Given the description of an element on the screen output the (x, y) to click on. 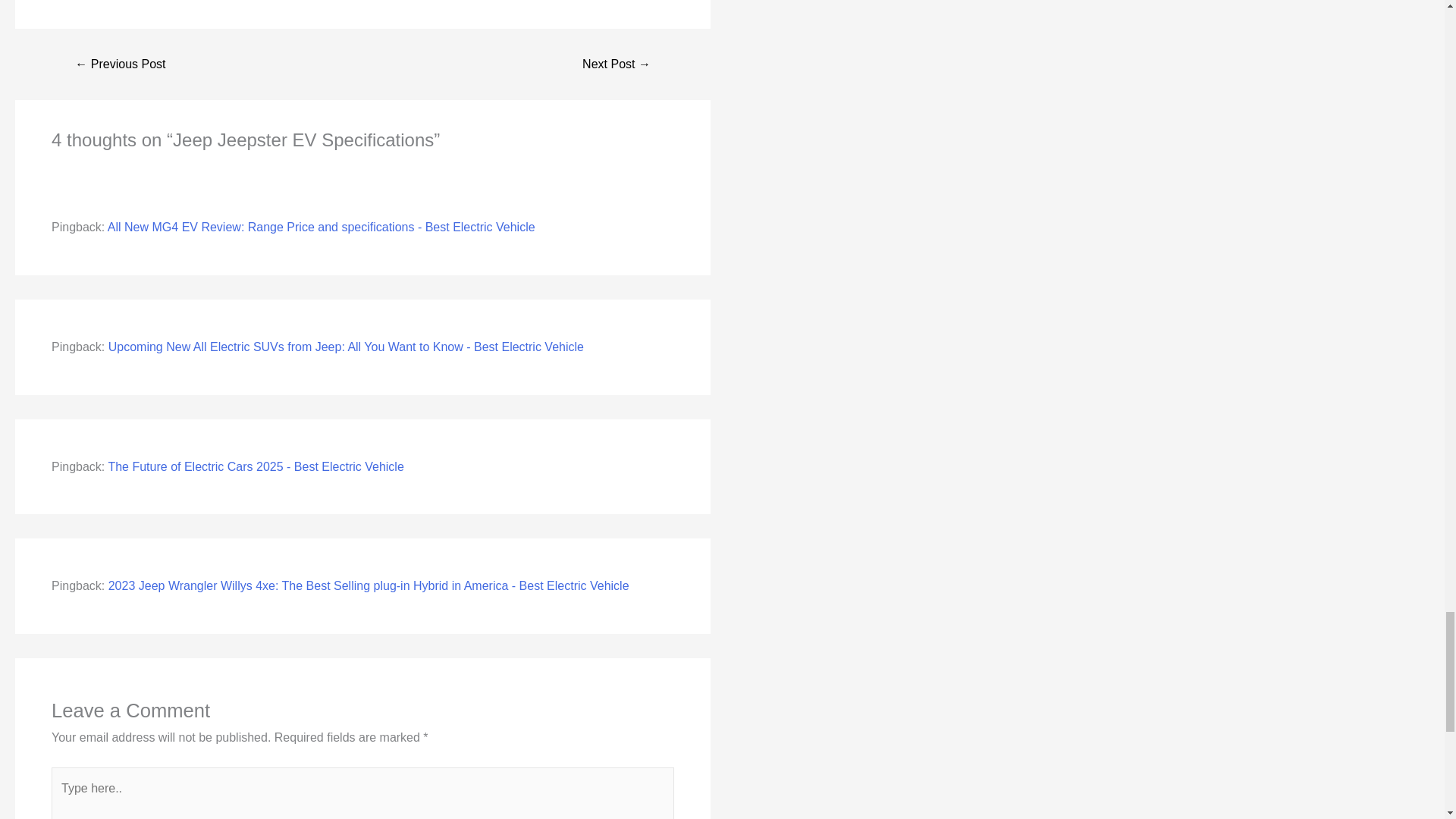
Upcoming BYD Cars in India 2022 (119, 64)
The Future of Electric Cars 2025 - Best Electric Vehicle (255, 465)
